Given the description of an element on the screen output the (x, y) to click on. 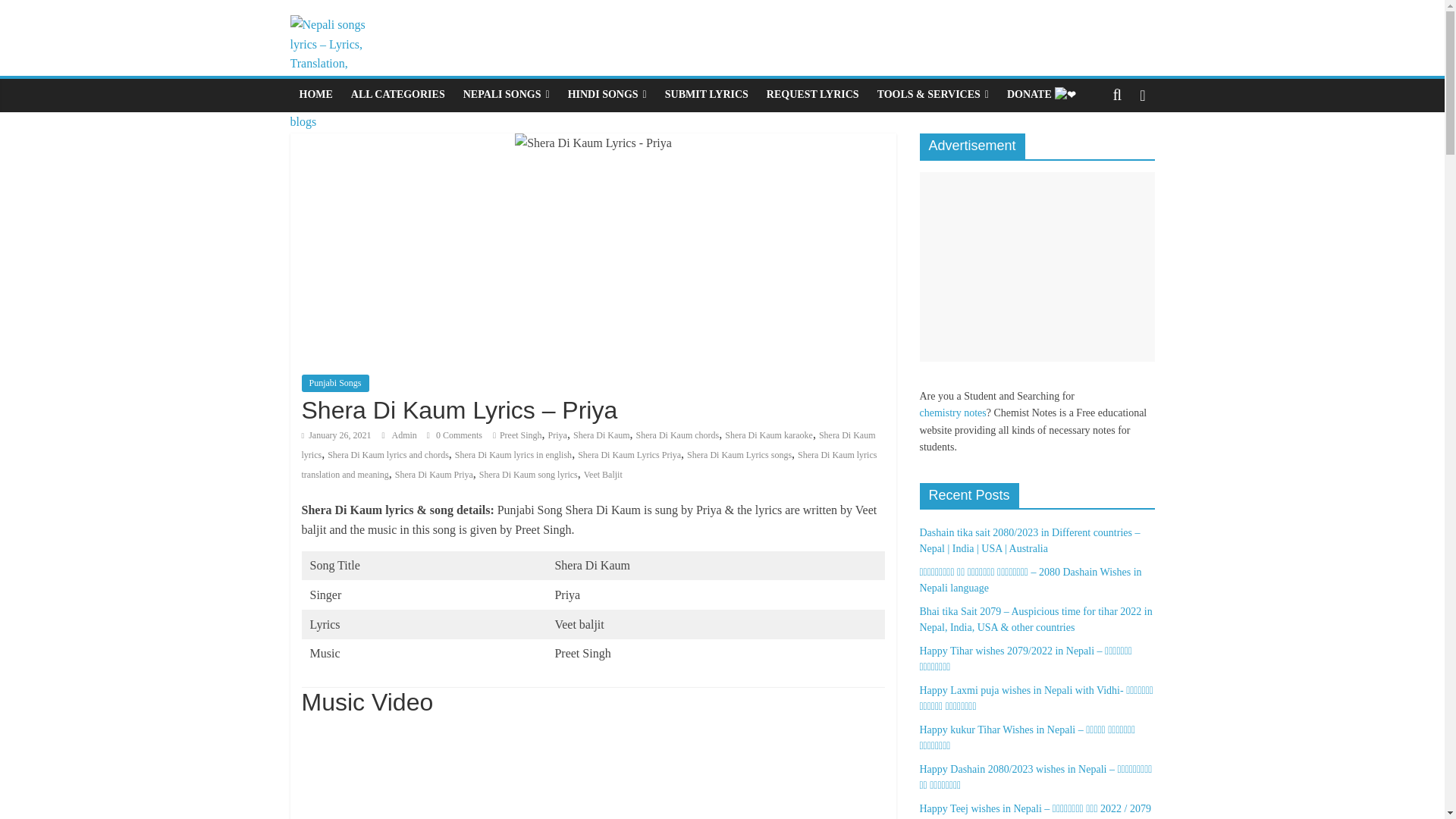
Advertisement (1036, 266)
Admin (405, 434)
DONATE (1041, 95)
Shera Di Kaum chords (677, 434)
4:23 pm (336, 434)
REQUEST LYRICS (812, 94)
HOME (314, 94)
Shera Di Kaum Lyrics songs (739, 454)
Shera Di Kaum lyrics in english (513, 454)
Shera Di Kaum (601, 434)
